Given the description of an element on the screen output the (x, y) to click on. 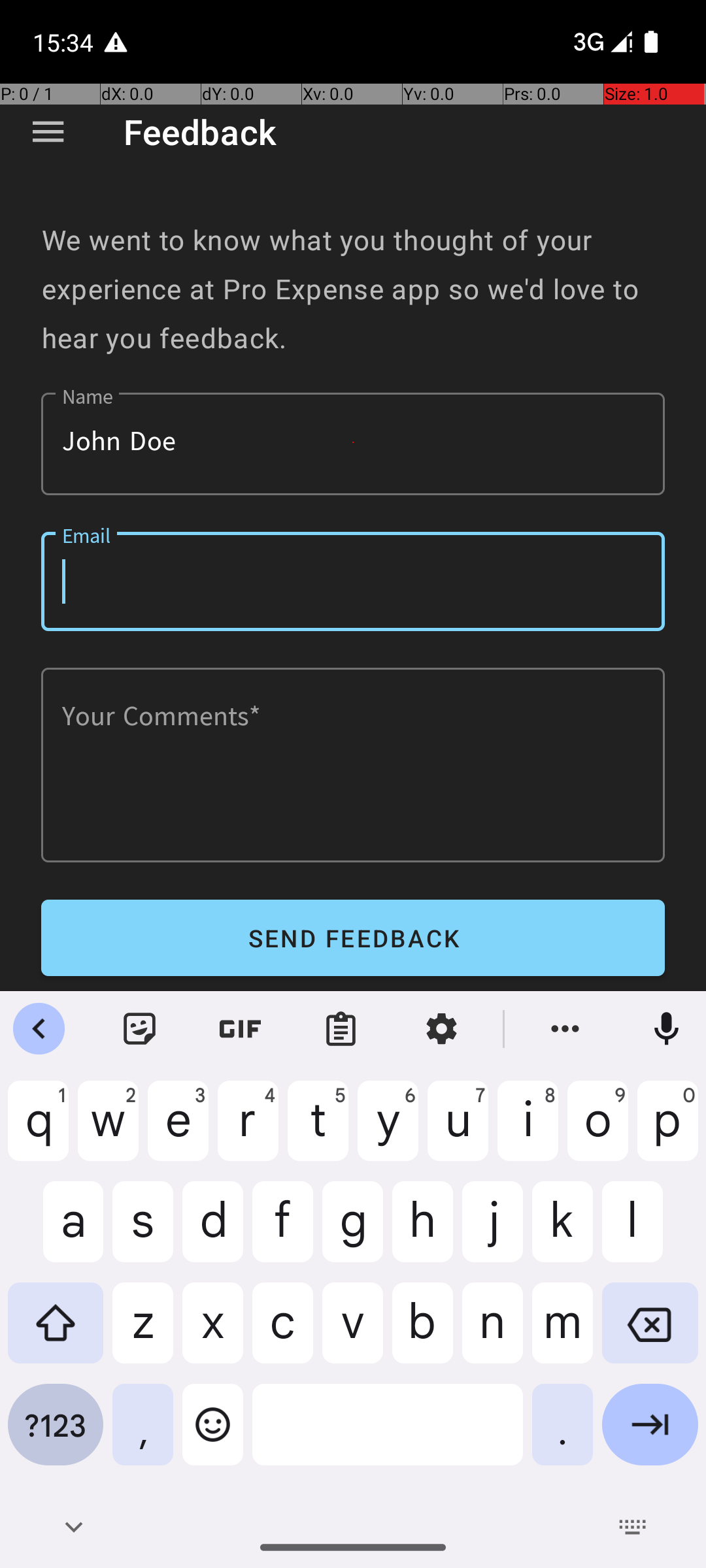
Feedback Element type: android.widget.TextView (200, 131)
We went to know what you thought of your experience at Pro Expense app so we'd love to hear you feedback. Element type: android.widget.TextView (352, 288)
John Doe Element type: android.widget.EditText (352, 443)
Email Element type: android.widget.EditText (352, 581)
Your Comments* Element type: android.widget.EditText (352, 764)
SEND FEEDBACK Element type: android.widget.Button (352, 937)
Close features menu Element type: android.widget.FrameLayout (39, 1028)
Sticker Keyboard Element type: android.widget.FrameLayout (139, 1028)
GIF Keyboard Element type: android.widget.FrameLayout (240, 1028)
Clipboard Element type: android.widget.FrameLayout (340, 1028)
More features Element type: android.widget.FrameLayout (565, 1028)
